Given the description of an element on the screen output the (x, y) to click on. 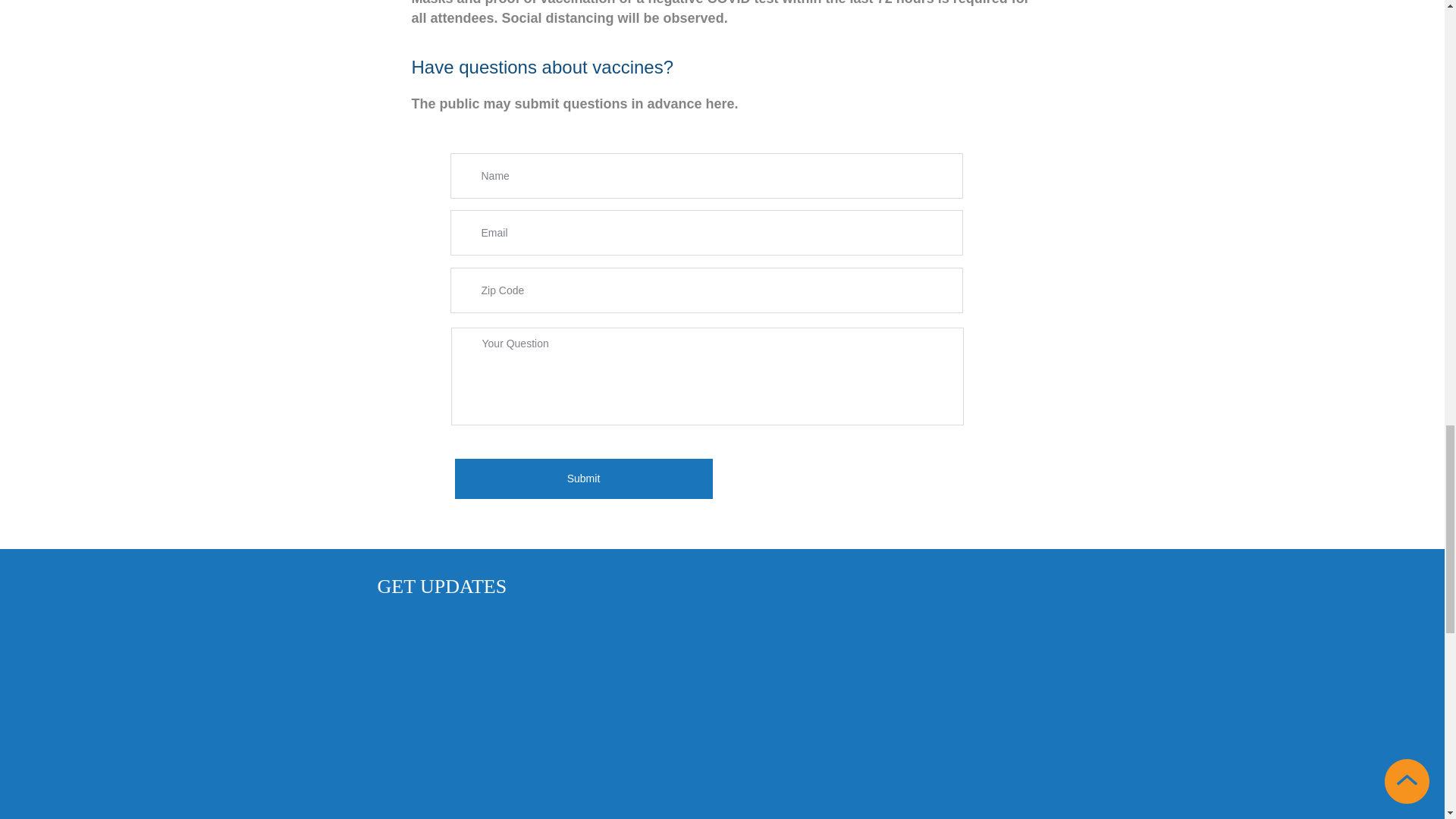
Submit (583, 478)
